Given the description of an element on the screen output the (x, y) to click on. 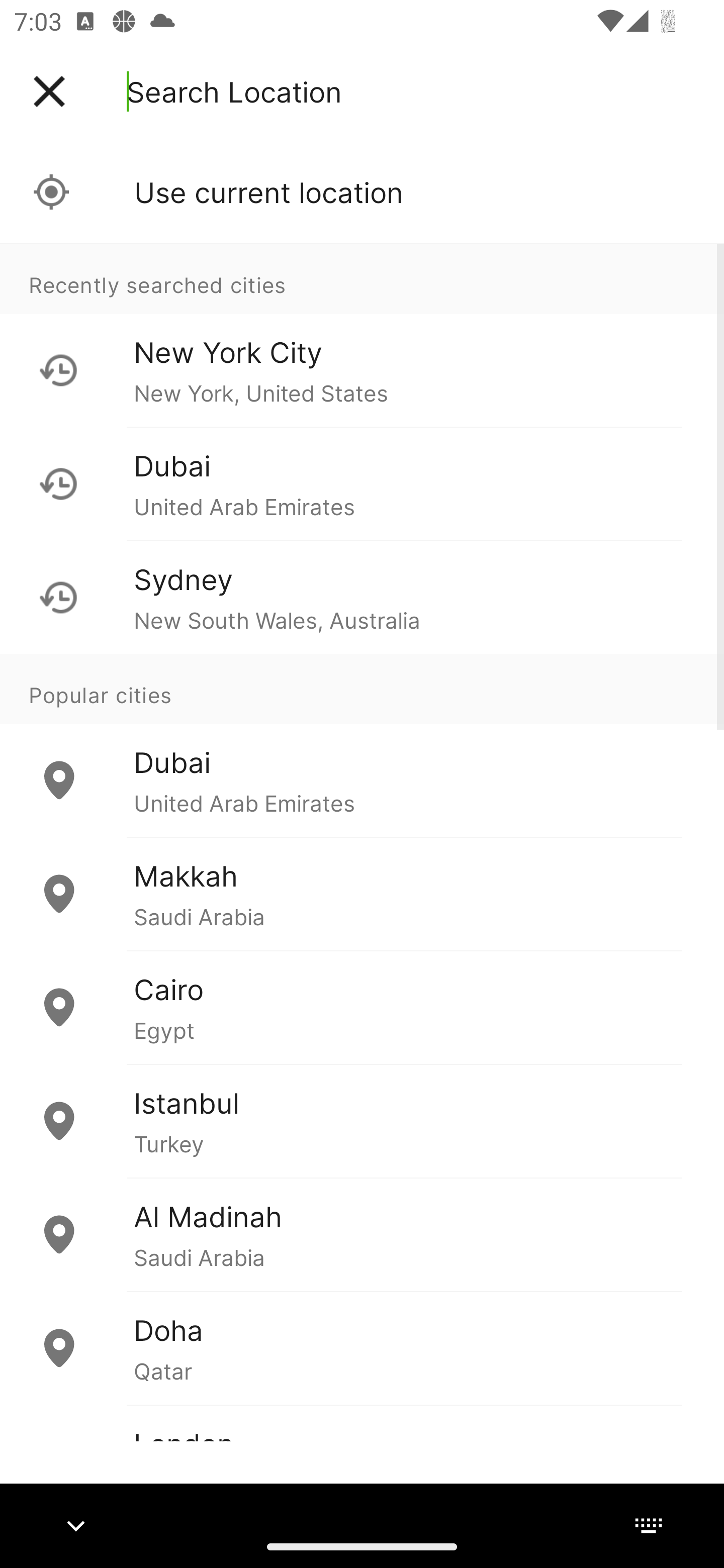
Search Location (234, 91)
Use current location (362, 192)
Recently searched cities (362, 278)
Dubai United Arab Emirates (362, 483)
Sydney New South Wales, Australia (362, 596)
Popular cities Dubai United Arab Emirates (362, 745)
Popular cities (362, 688)
Makkah Saudi Arabia (362, 893)
Cairo Egypt (362, 1007)
Istanbul Turkey (362, 1120)
Al Madinah Saudi Arabia (362, 1233)
Doha Qatar (362, 1347)
